Given the description of an element on the screen output the (x, y) to click on. 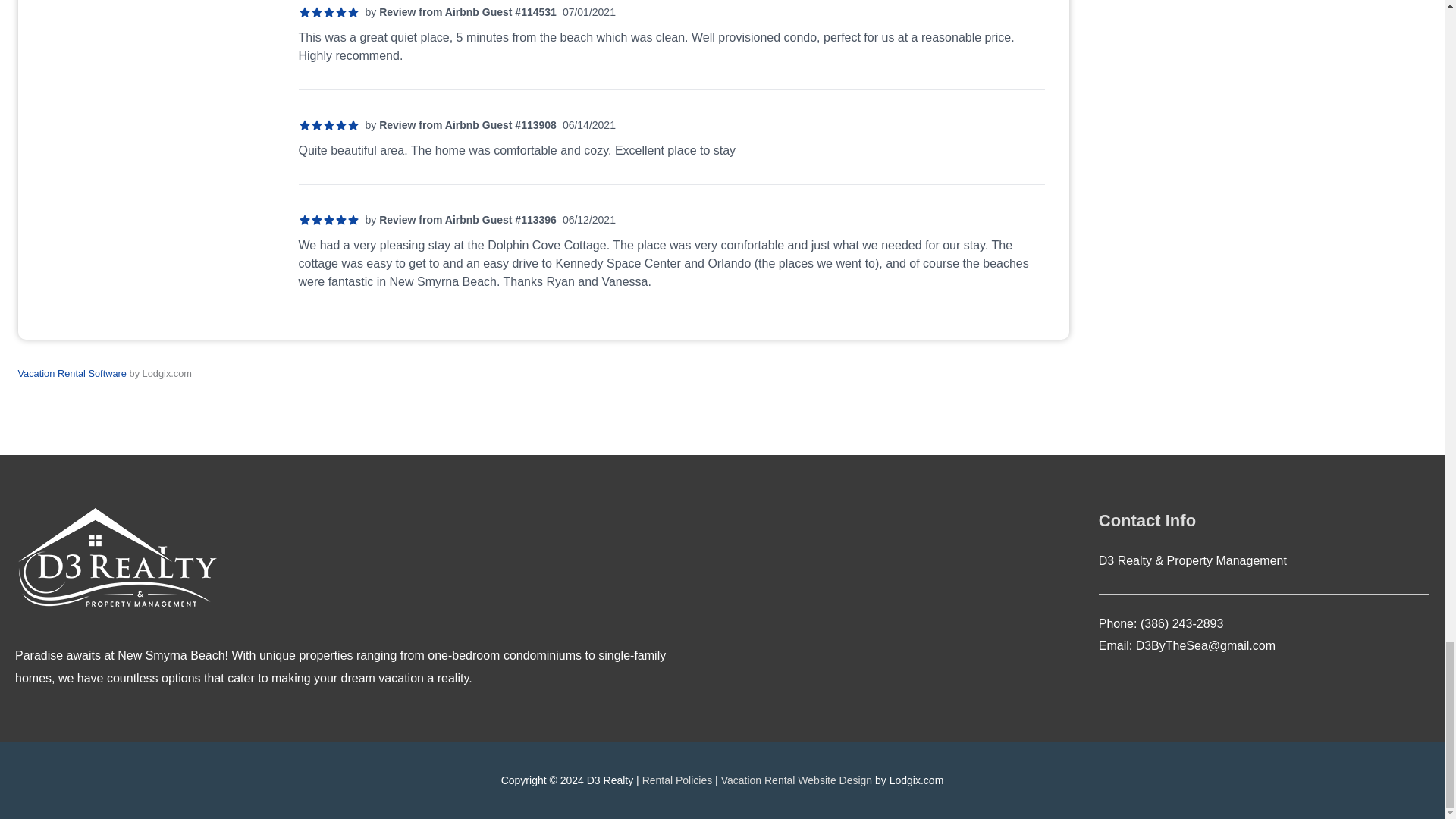
Vacation Rental Website Design (796, 779)
Vacation Rental Software (71, 373)
Rental Policies (677, 779)
